Given the description of an element on the screen output the (x, y) to click on. 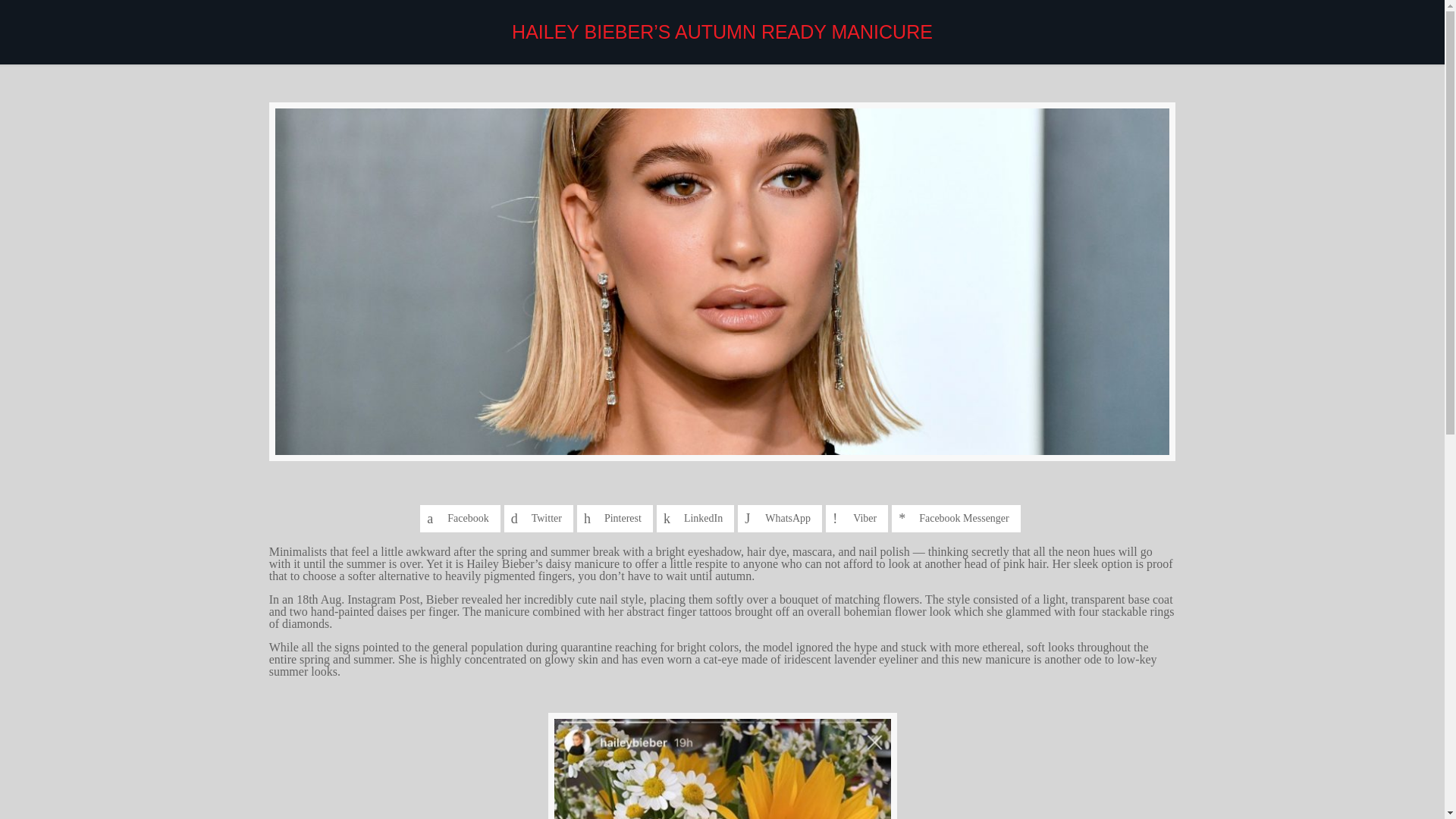
Share on Pinterest (614, 518)
Share on Facebook Messenger (955, 518)
Share on LinkedIn (694, 518)
Share on WhatsApp (780, 518)
Share on Facebook (459, 518)
Share on Twitter (538, 518)
Facebook (459, 518)
Twitter (538, 518)
Facebook Messenger (955, 518)
WhatsApp (780, 518)
